Given the description of an element on the screen output the (x, y) to click on. 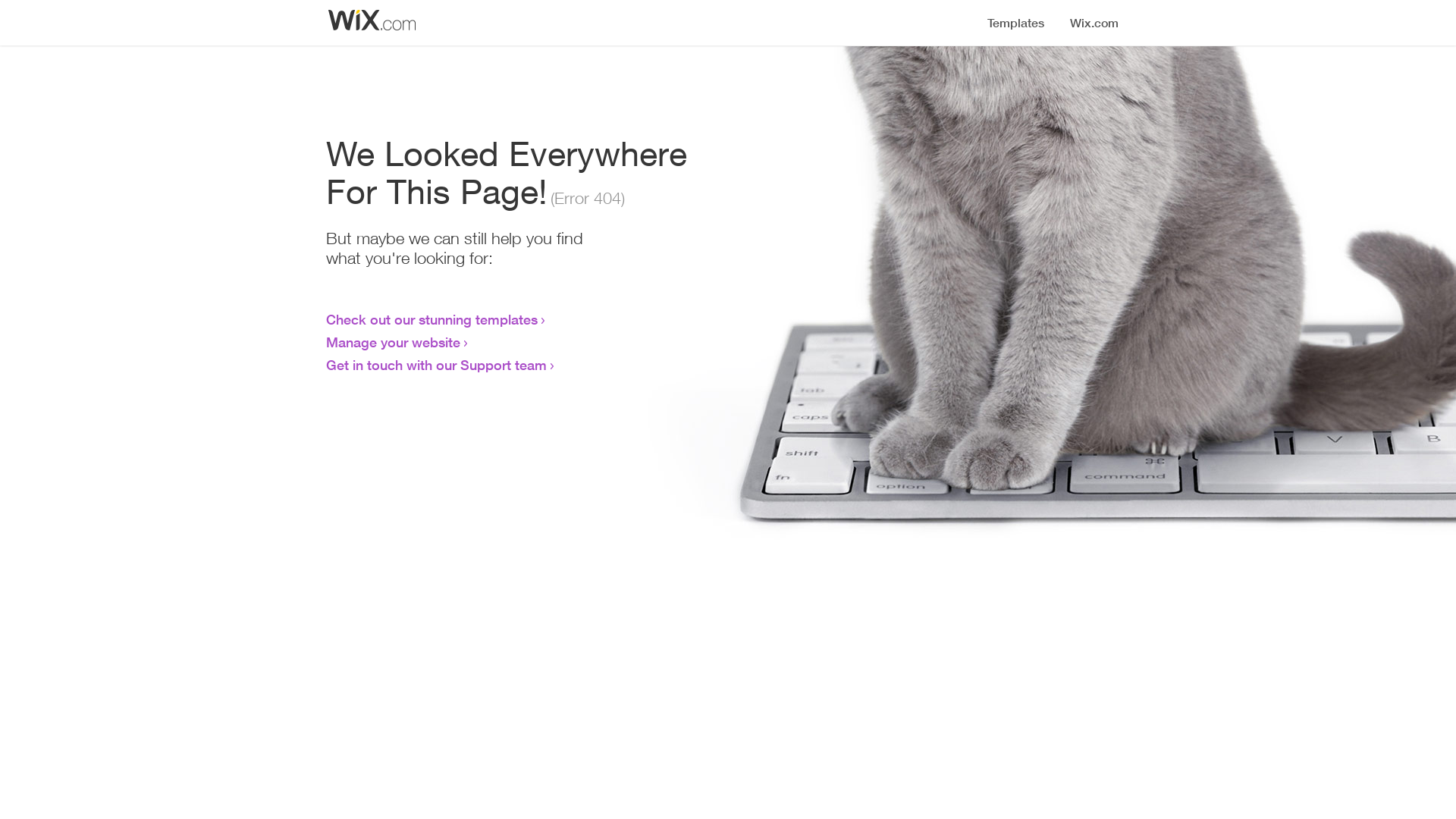
Check out our stunning templates Element type: text (431, 318)
Manage your website Element type: text (393, 341)
Get in touch with our Support team Element type: text (436, 364)
